Given the description of an element on the screen output the (x, y) to click on. 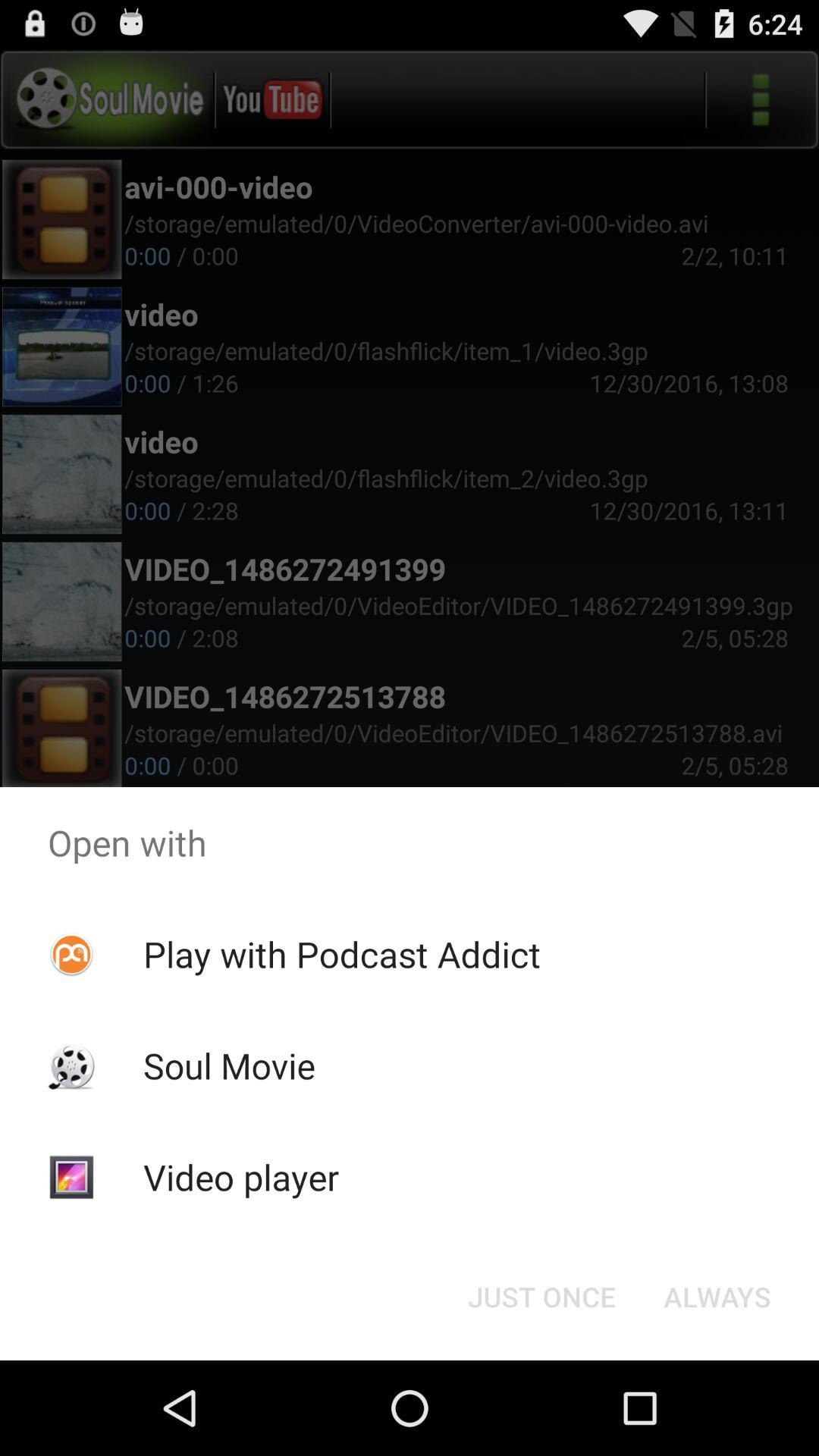
open the app below play with podcast (541, 1296)
